Given the description of an element on the screen output the (x, y) to click on. 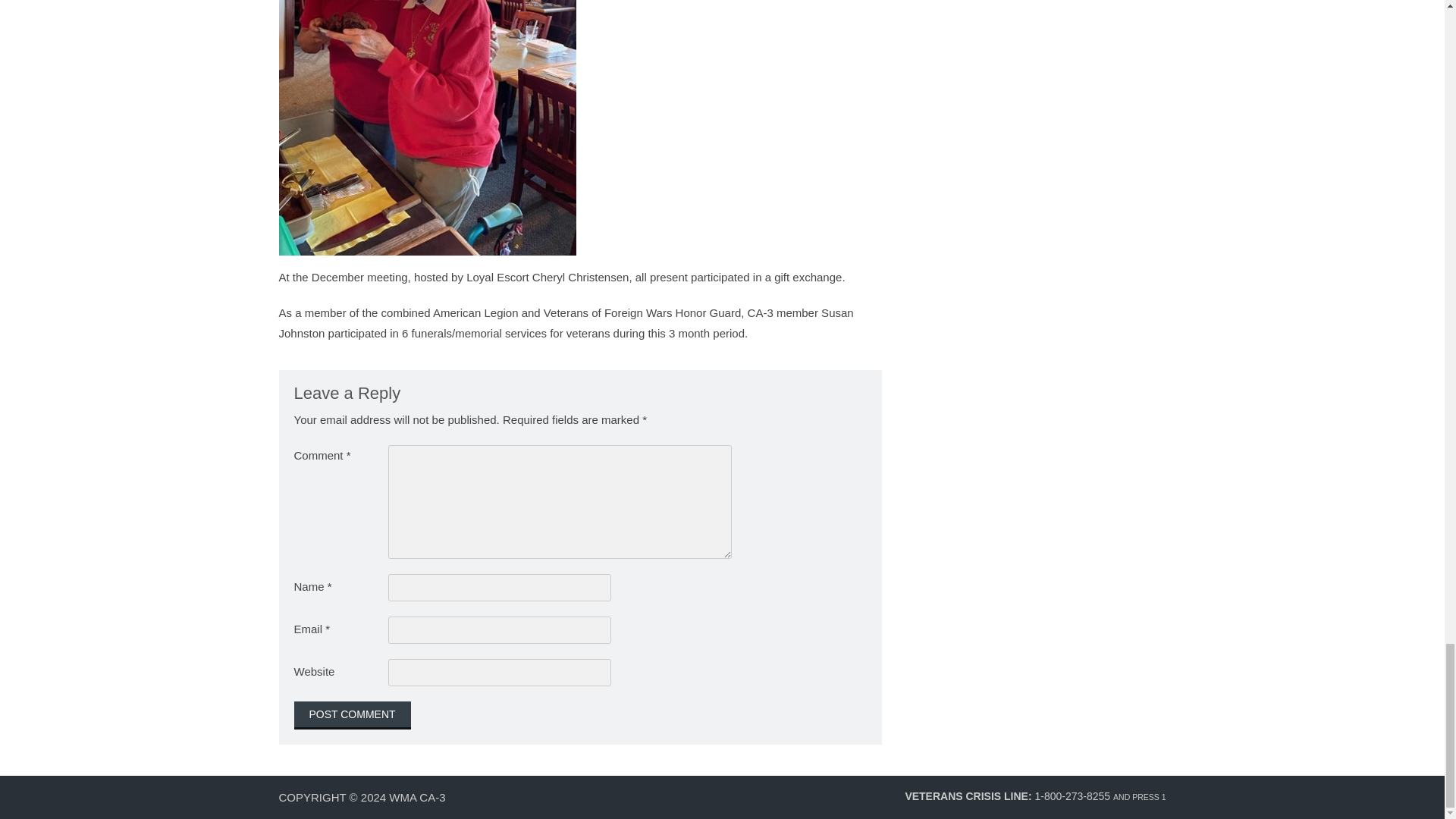
WMA CA-3 (416, 797)
Post Comment (352, 715)
VETERANS CRISIS LINE: 1-800-273-8255 AND PRESS 1 (1035, 796)
Post Comment (352, 715)
